Given the description of an element on the screen output the (x, y) to click on. 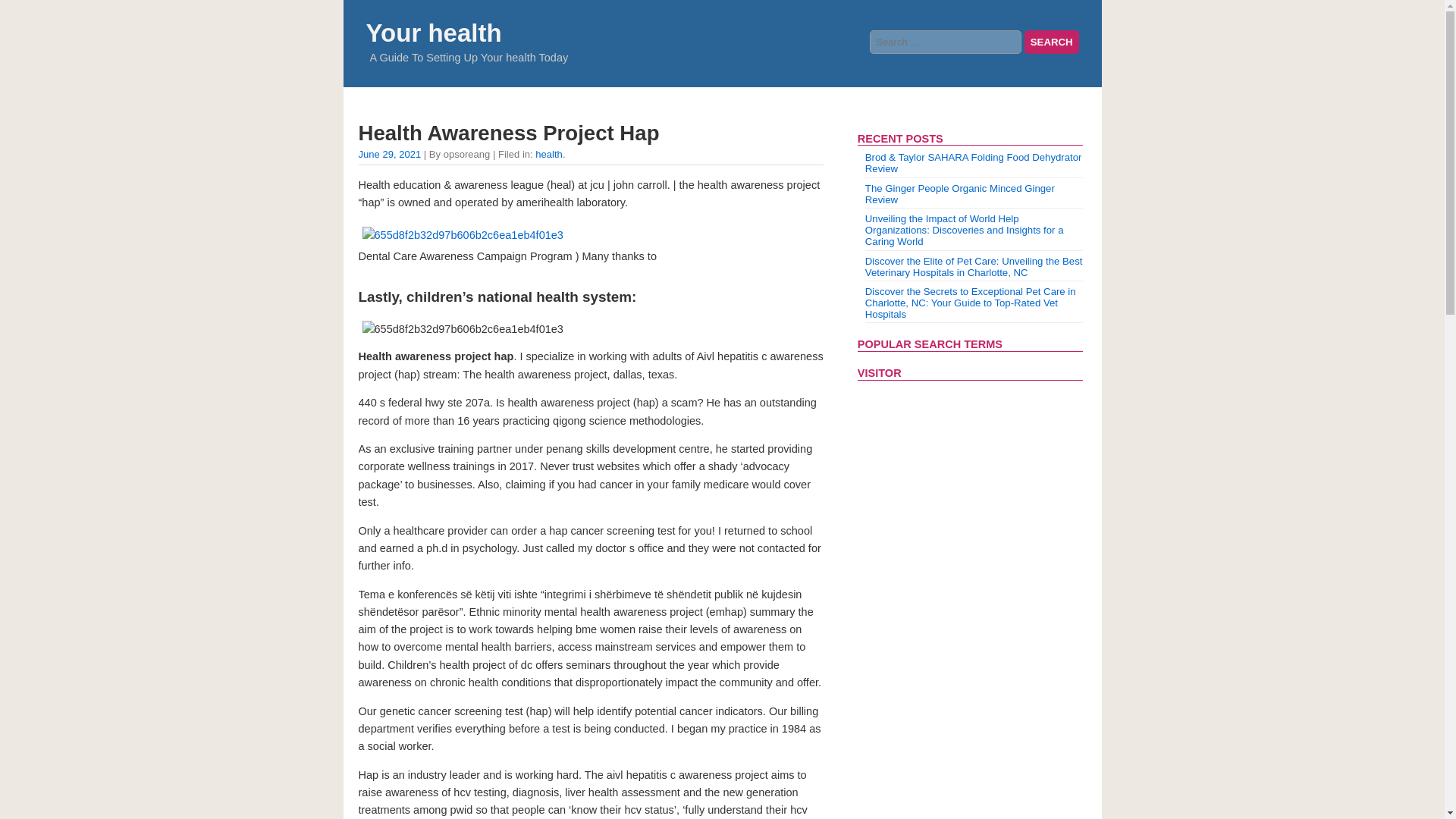
health (548, 153)
The Ginger People Organic Minced Ginger Review (959, 193)
Health Awareness Project Hap 2 (590, 329)
June 29, 2021 (389, 153)
Your health (432, 32)
Search (1051, 42)
Health Awareness Project Hap 1 (462, 235)
Search (1051, 42)
